Given the description of an element on the screen output the (x, y) to click on. 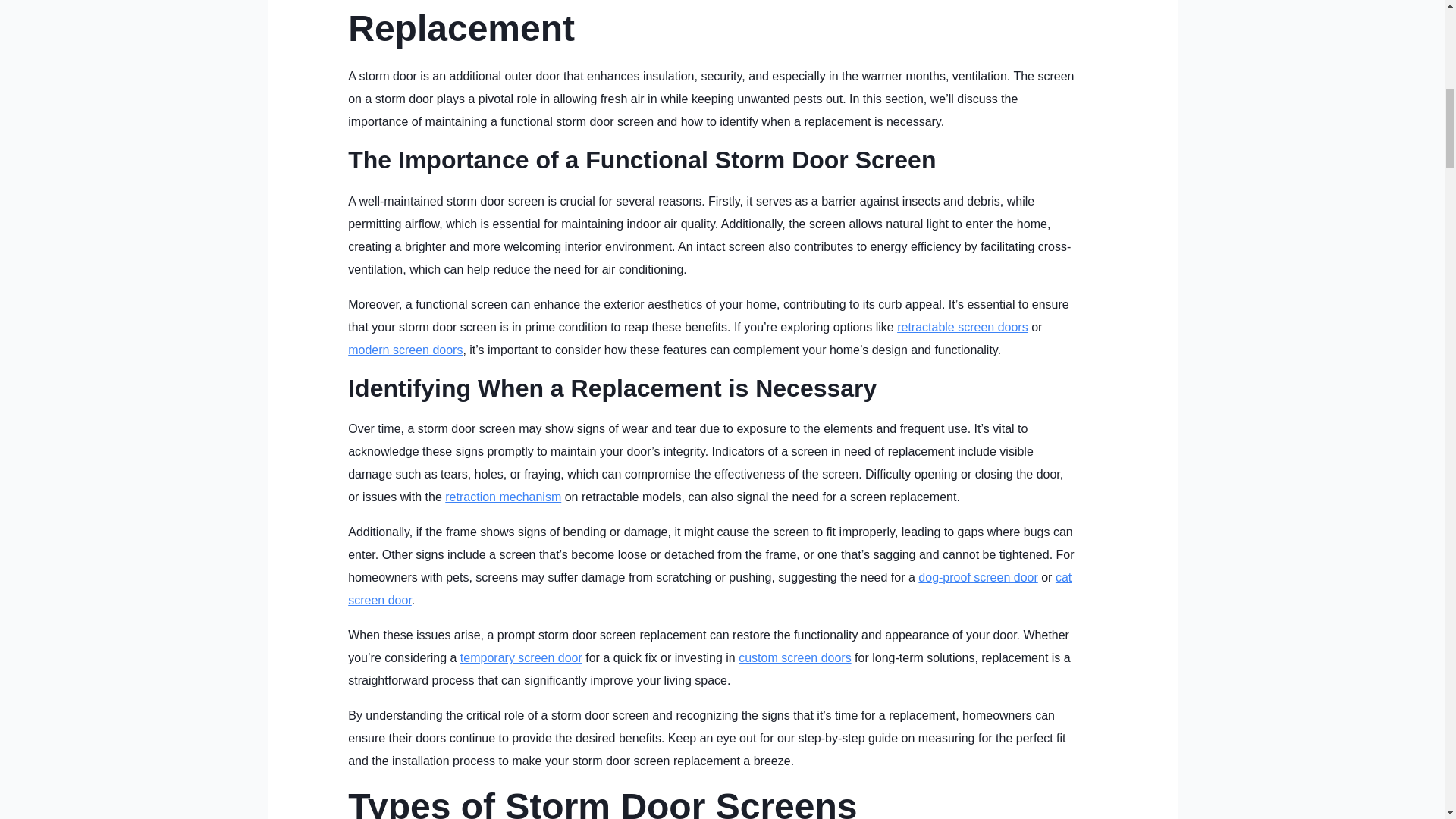
modern screen doors (405, 349)
temporary screen door (521, 657)
dog-proof screen door (977, 576)
custom screen doors (794, 657)
retraction mechanism (502, 496)
cat screen door (709, 588)
retractable screen doors (961, 327)
